Given the description of an element on the screen output the (x, y) to click on. 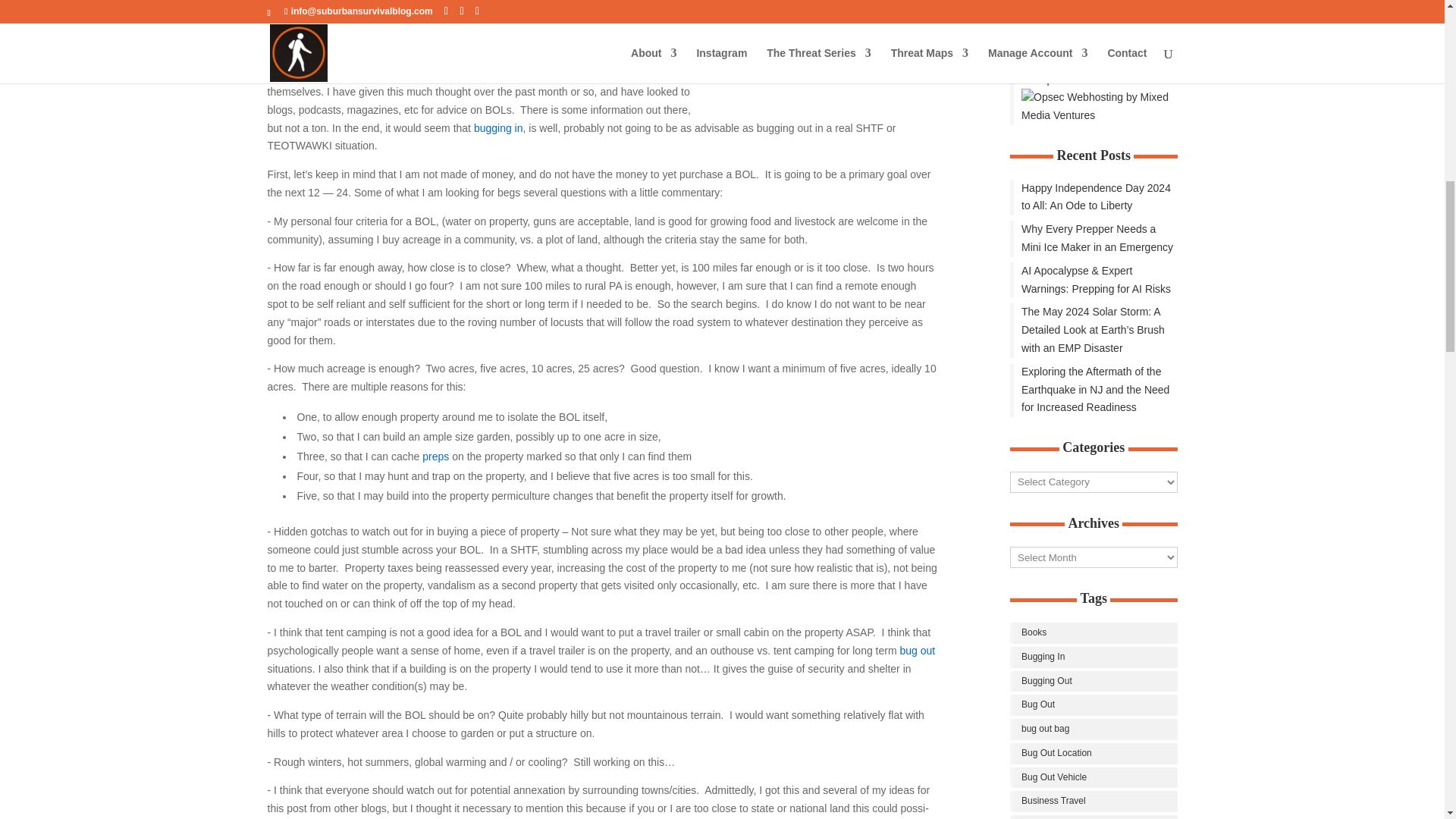
bol (823, 54)
Opsec Webhosting by Mixed Media Ventures (1093, 71)
